Given the description of an element on the screen output the (x, y) to click on. 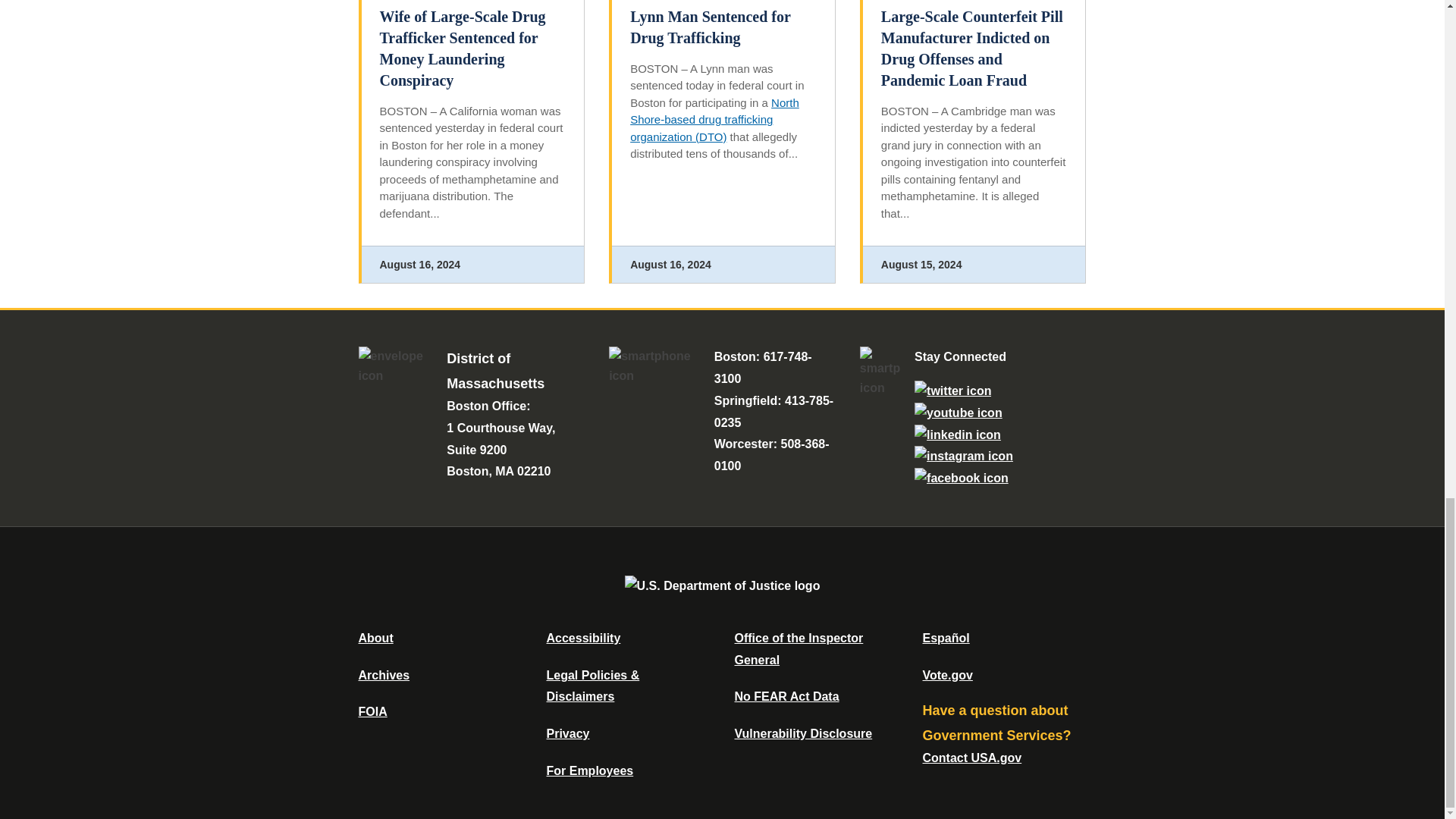
Legal Policies and Disclaimers (592, 686)
For Employees (589, 770)
Department of Justice Archive (383, 675)
Data Posted Pursuant To The No Fear Act (785, 696)
About DOJ (375, 637)
Office of Information Policy (372, 711)
Accessibility Statement (583, 637)
